Given the description of an element on the screen output the (x, y) to click on. 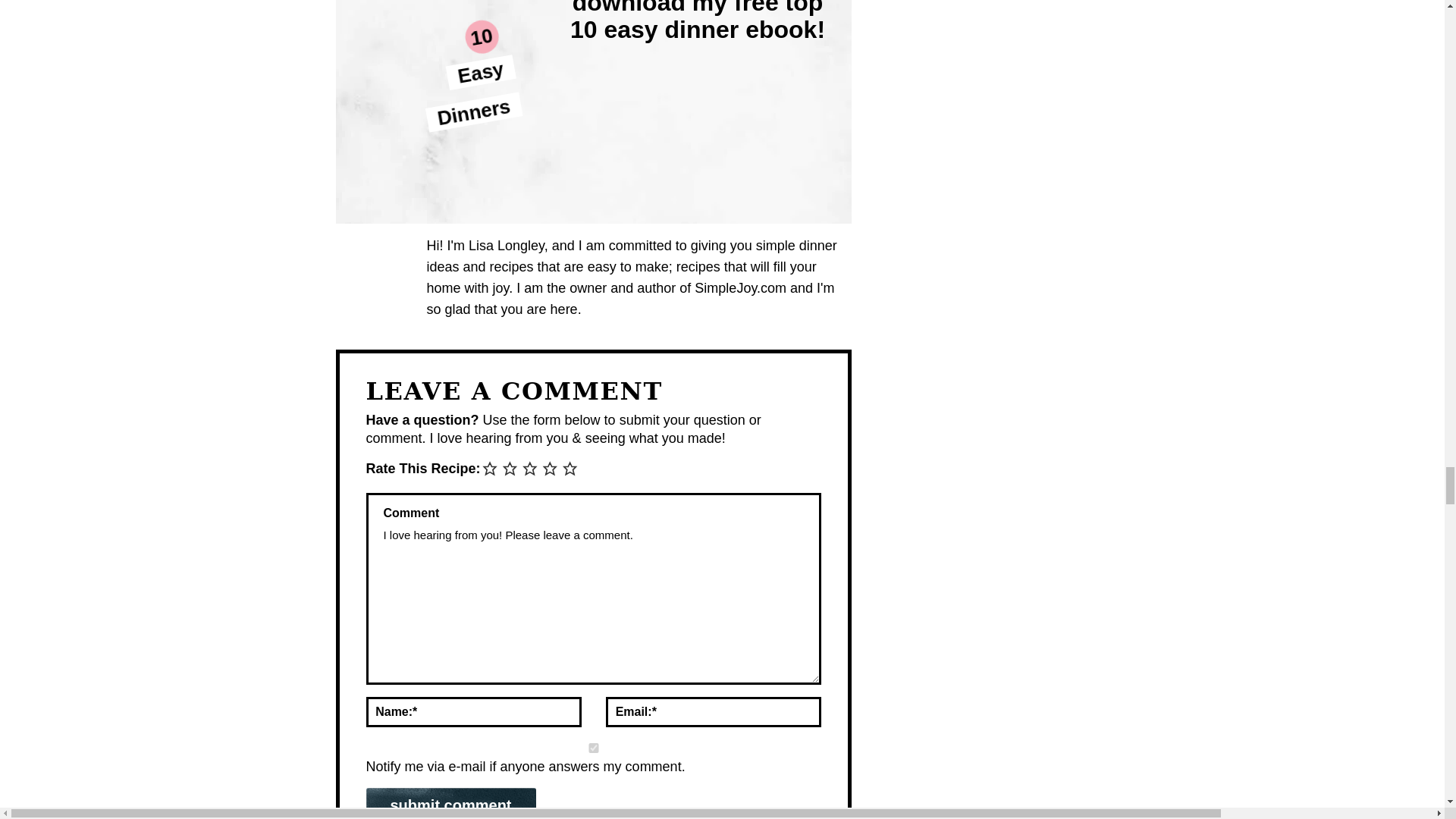
on (593, 747)
submit comment (450, 803)
